Given the description of an element on the screen output the (x, y) to click on. 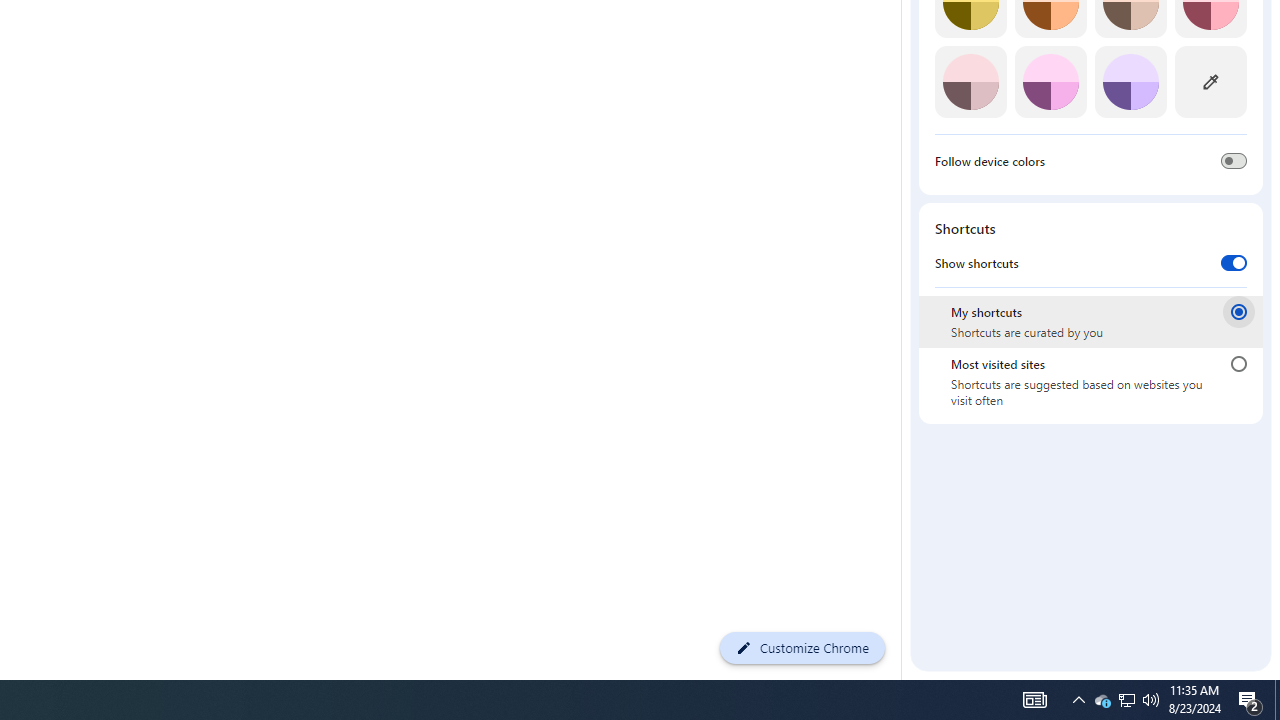
Fuchsia (1050, 82)
Most visited sites (1238, 363)
Side Panel Resize Handle (905, 22)
Customize Chrome (801, 647)
My shortcuts (1238, 311)
Violet (1130, 82)
Follow device colors (1233, 160)
Pink (970, 82)
Custom color (1210, 82)
Show shortcuts (1233, 262)
